Given the description of an element on the screen output the (x, y) to click on. 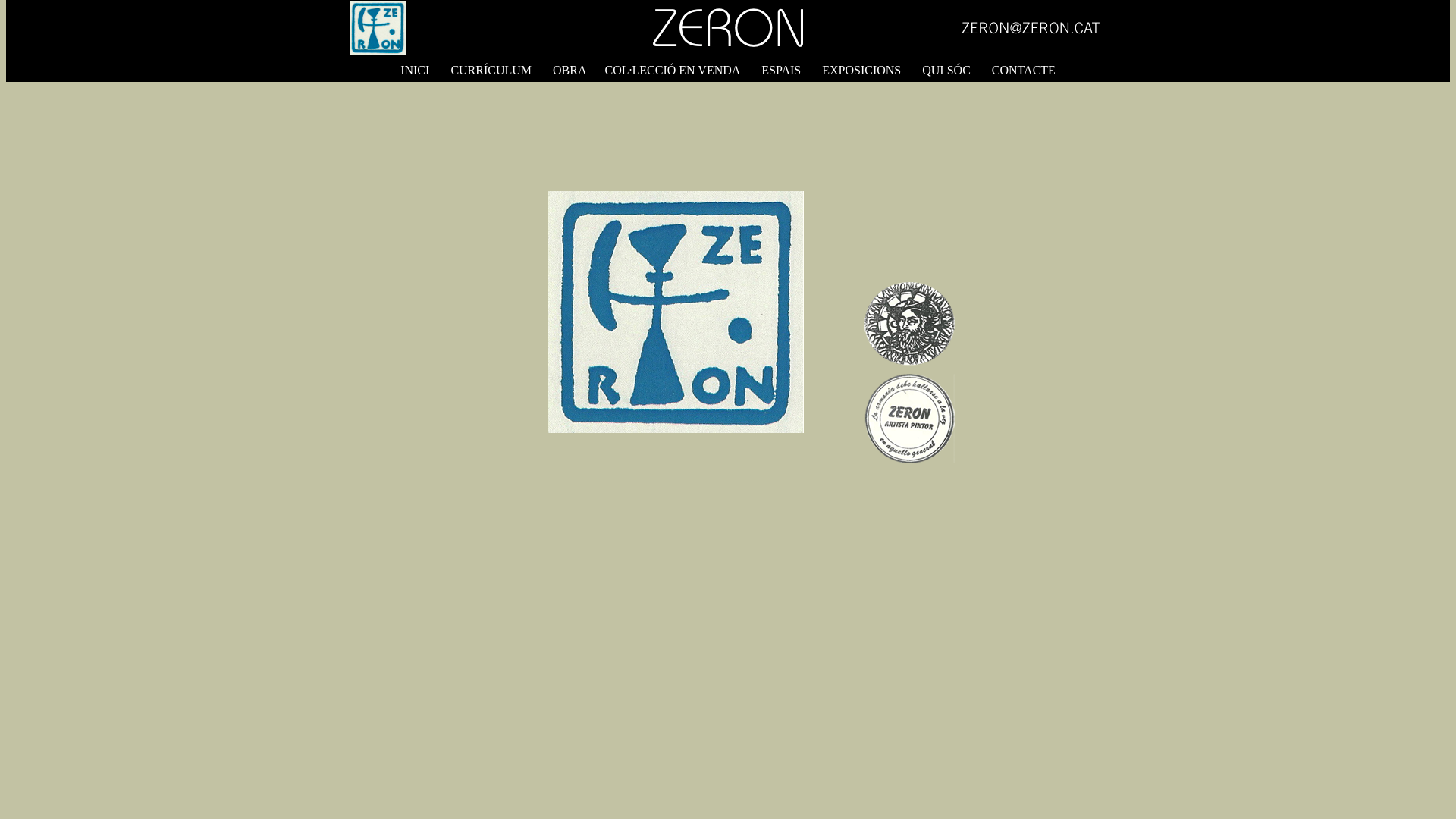
EXPOSICIONS Element type: text (861, 70)
OBRA Element type: text (569, 70)
CONTACTE Element type: text (1023, 70)
ESPAIS Element type: text (780, 70)
INICI Element type: text (414, 70)
